Given the description of an element on the screen output the (x, y) to click on. 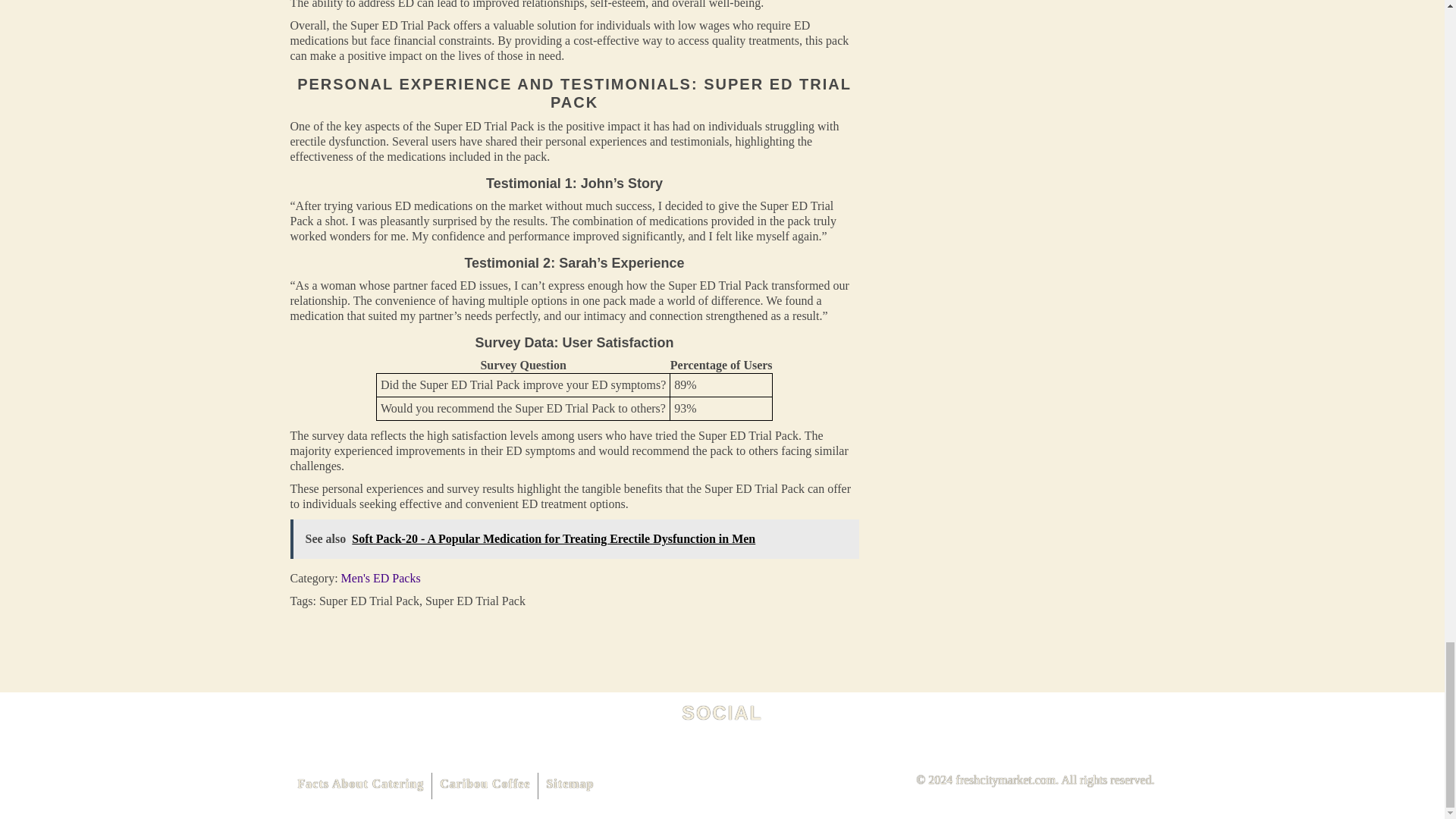
Men's ED Packs (380, 577)
